Given the description of an element on the screen output the (x, y) to click on. 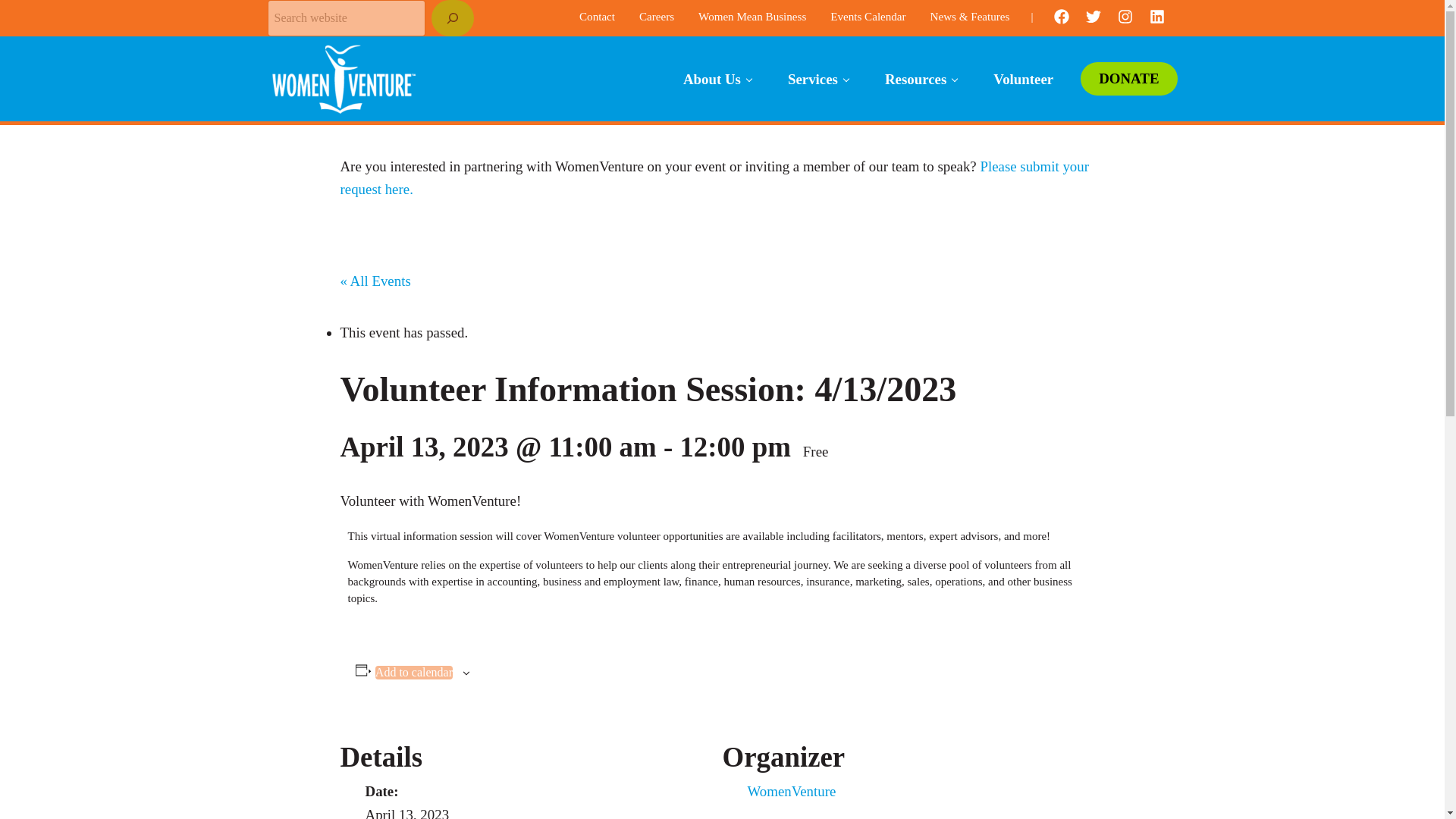
Services (818, 79)
DONATE (1128, 79)
Volunteer (1023, 79)
Women Mean Business (751, 16)
WomenVenture (791, 790)
2023-04-13 (407, 812)
Events Calendar (867, 16)
About Us (717, 79)
Careers (656, 16)
Resources (920, 79)
Contact (597, 16)
